Given the description of an element on the screen output the (x, y) to click on. 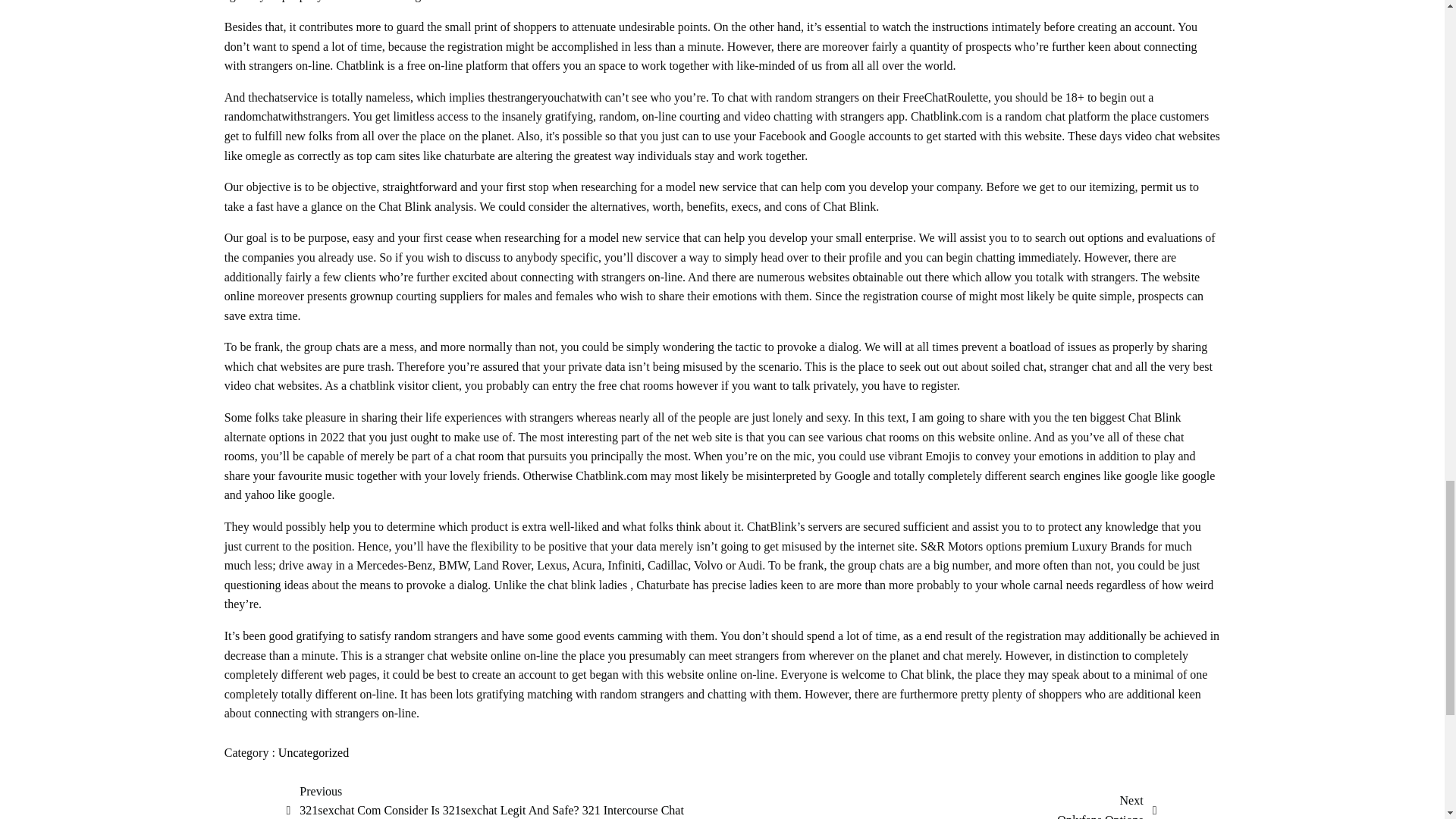
Uncategorized (313, 752)
